Given the description of an element on the screen output the (x, y) to click on. 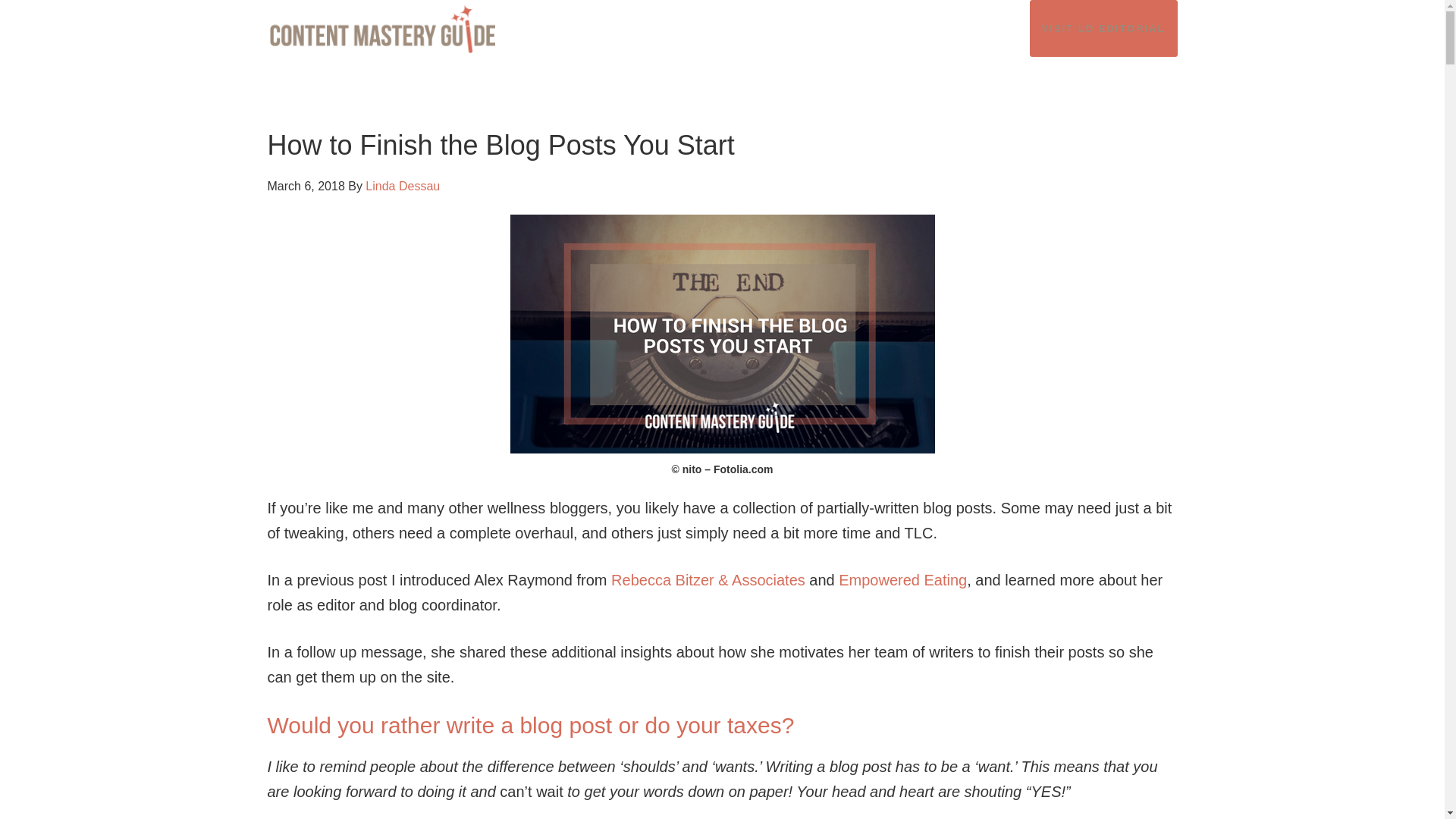
Content Mastery Guide (403, 28)
Empowered Eating (902, 579)
How to Finish the Blog Posts You Start (499, 144)
VISIT LD EDITORIAL (1103, 28)
Linda Dessau (402, 185)
